Given the description of an element on the screen output the (x, y) to click on. 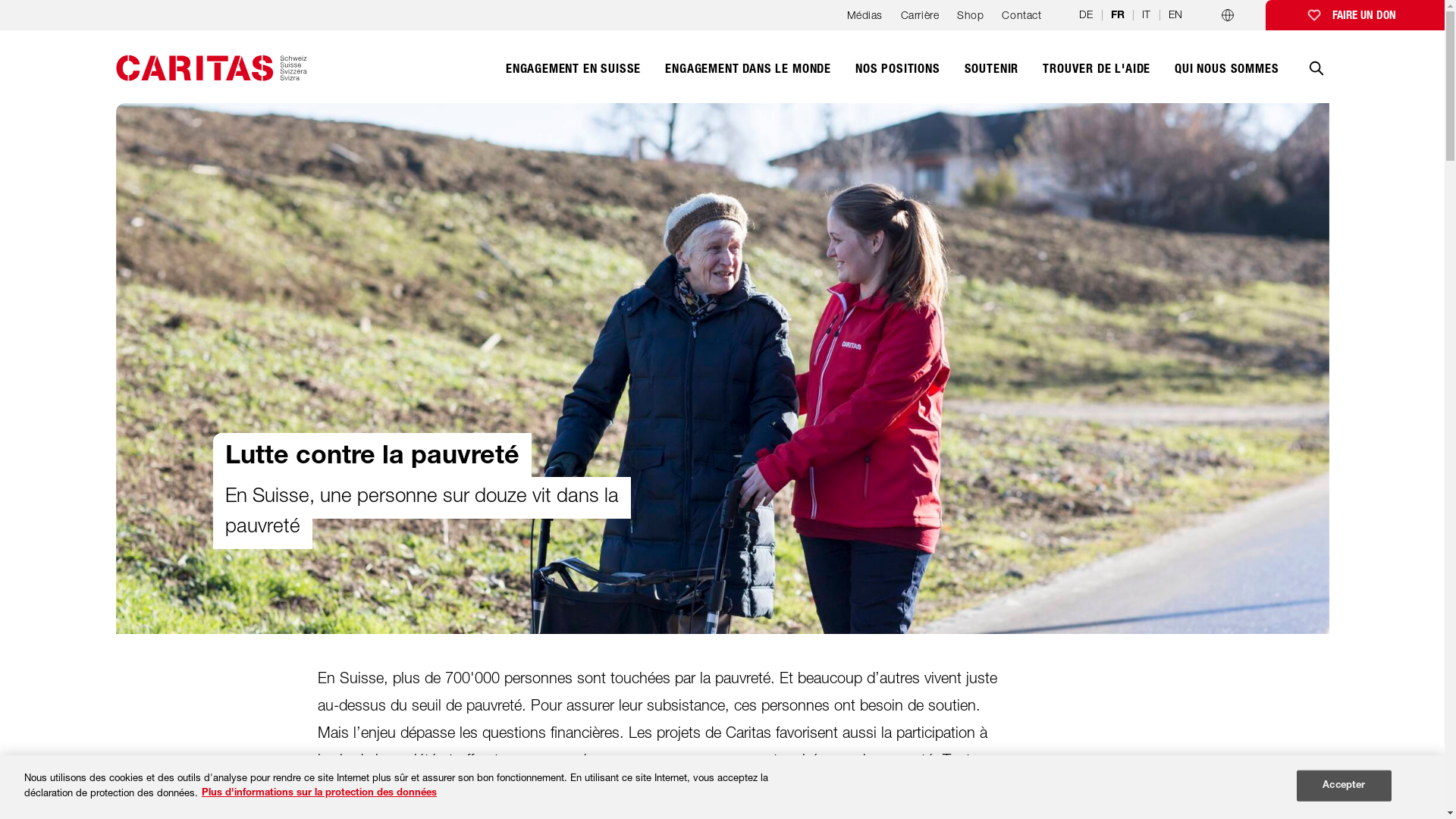
Programmes par pays Element type: text (1227, 15)
NOS POSITIONS Element type: text (897, 76)
TROUVER DE L'AIDE Element type: text (1096, 76)
QUI NOUS SOMMES Element type: text (1226, 76)
EN Element type: text (1175, 13)
IT Element type: text (1146, 13)
Shop Element type: text (970, 19)
SOUTENIR Element type: text (991, 76)
Recherche Element type: text (1315, 78)
DE Element type: text (1085, 13)
Contact Element type: text (1021, 19)
Accepter Element type: text (1343, 786)
ENGAGEMENT EN SUISSE Element type: text (572, 76)
FAIRE UN DON Element type: text (1354, 15)
ENGAGEMENT DANS LE MONDE Element type: text (748, 76)
